Given the description of an element on the screen output the (x, y) to click on. 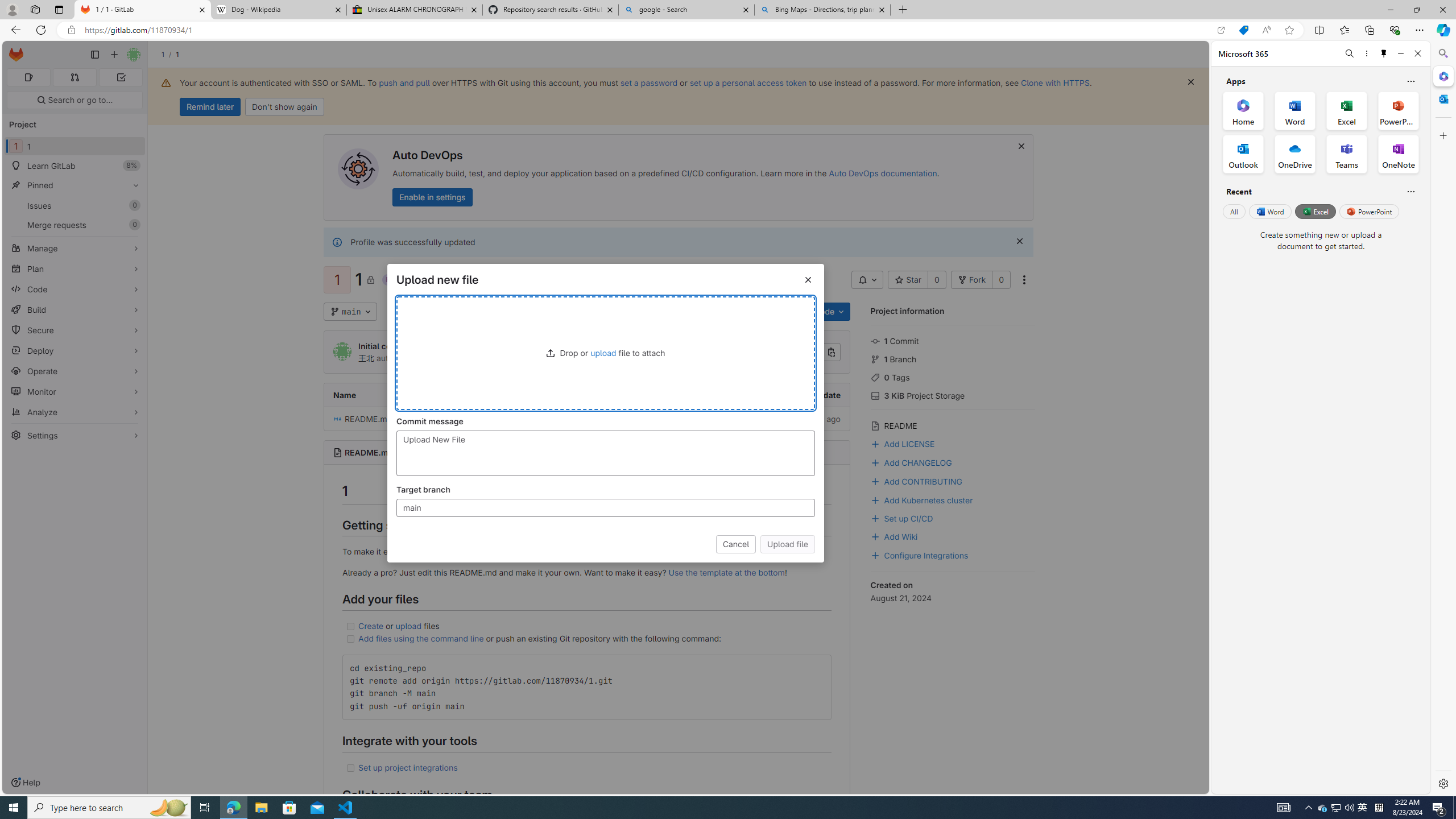
Is this helpful? (1410, 191)
set a password (649, 82)
Configure Integrations (952, 554)
Last update (762, 395)
Create (371, 625)
Class: s16 gl-alert-icon gl-alert-icon-no-title (337, 241)
Name (411, 395)
Class: s16 gl-icon gl-button-icon  (1019, 240)
upload (602, 352)
Unpin Merge requests (132, 224)
